Given the description of an element on the screen output the (x, y) to click on. 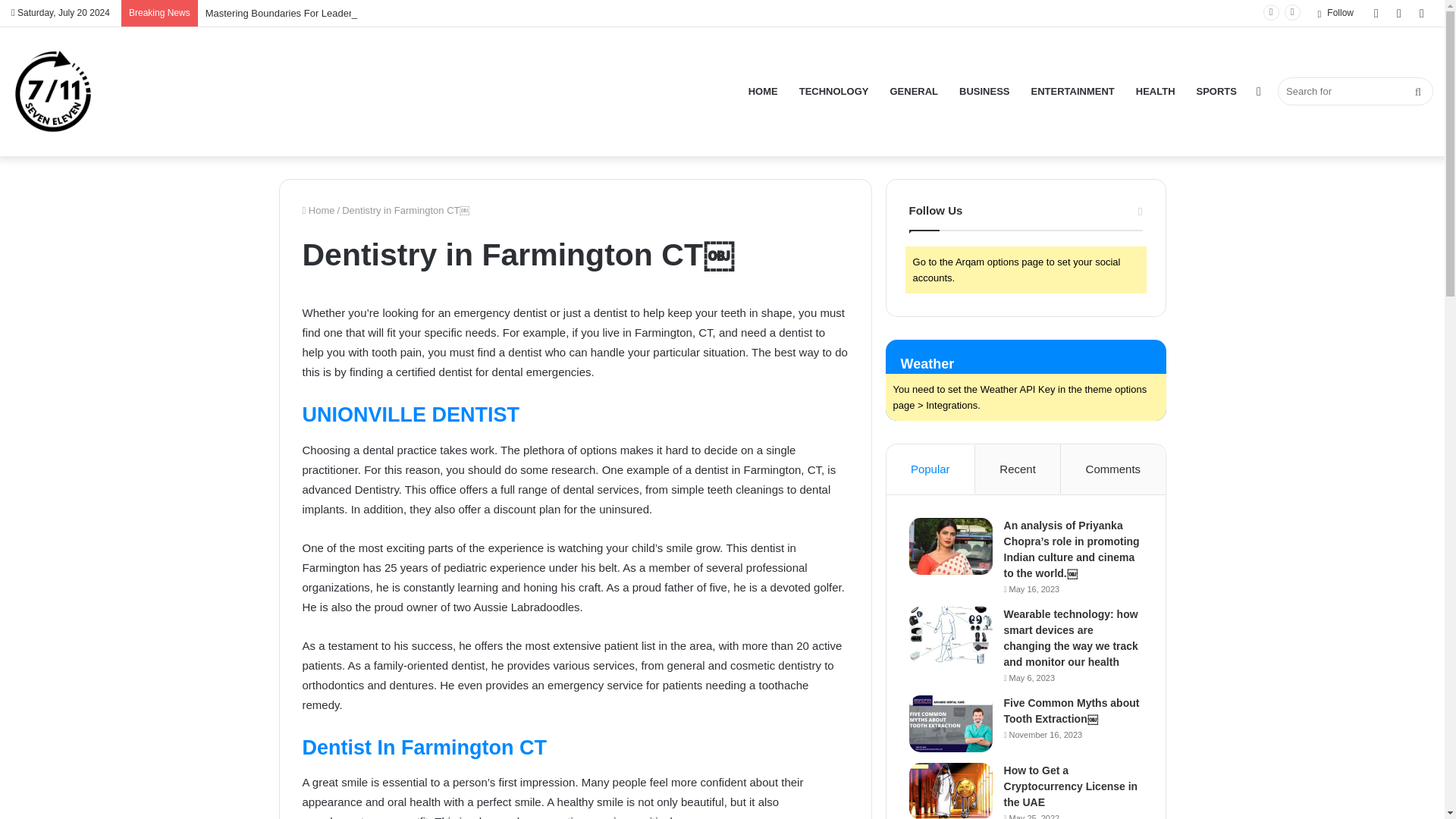
Seven Eleven Stores Dubai (52, 91)
Dentist In Farmington CT (423, 747)
Follow (1335, 13)
Popular (930, 469)
Recent (1018, 469)
Comments (1112, 469)
Mastering Boundaries For Leadership Success (307, 12)
How to Get a Cryptocurrency License in the UAE (1071, 786)
Home (317, 210)
UNIONVILLE DENTIST (410, 414)
Search for (1355, 90)
